Given the description of an element on the screen output the (x, y) to click on. 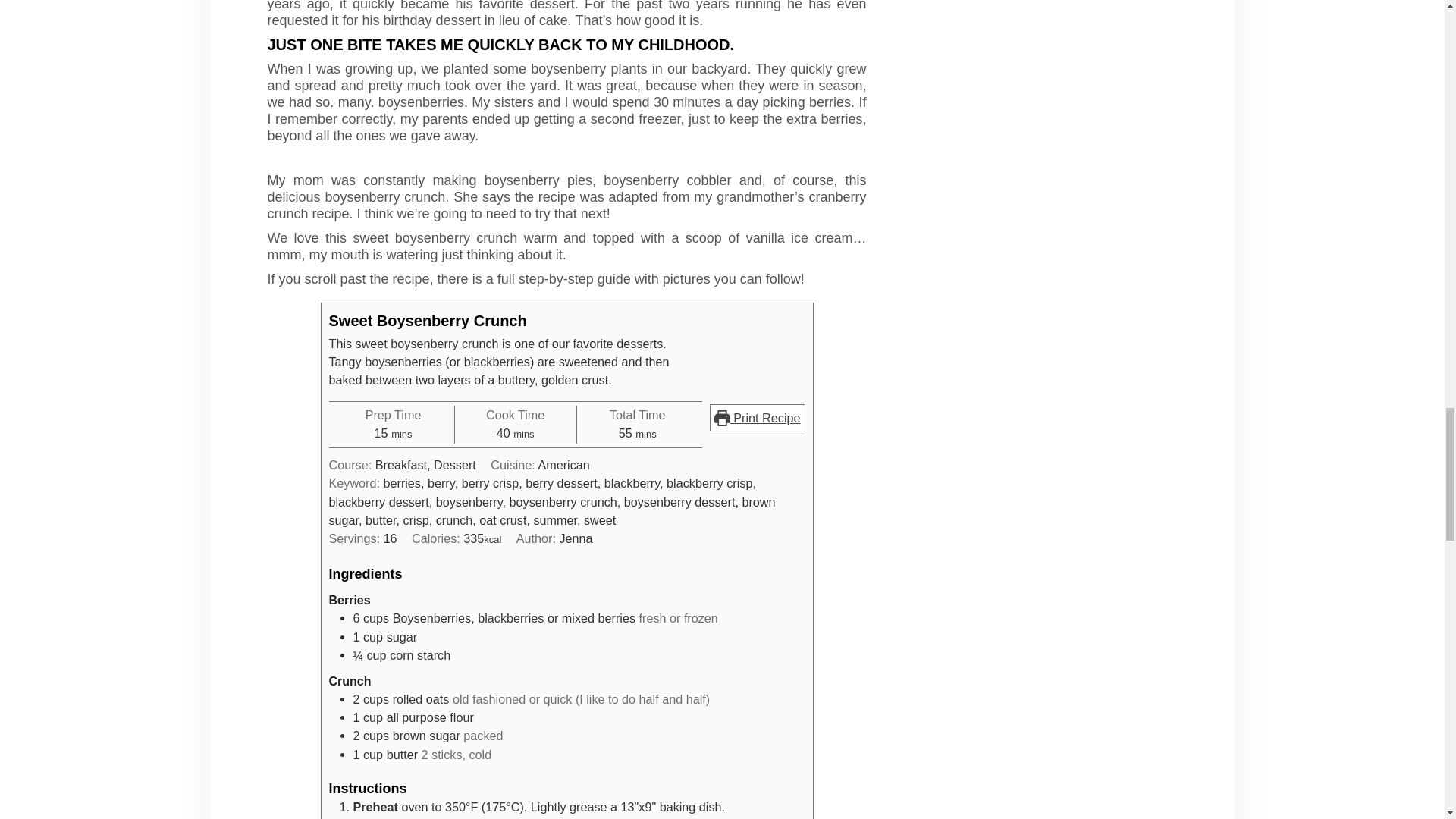
Print Recipe (757, 417)
